Given the description of an element on the screen output the (x, y) to click on. 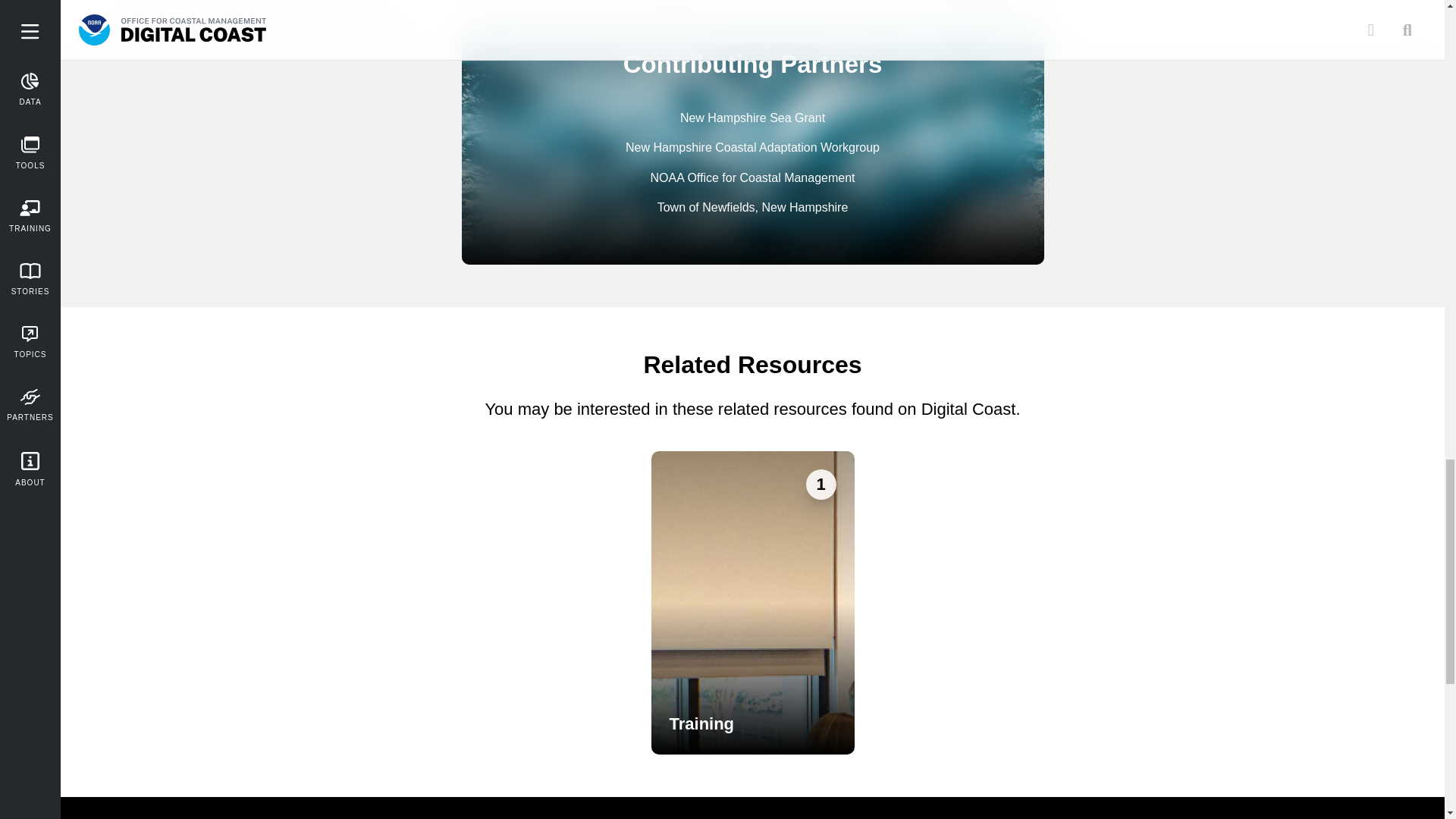
NOAA Office for Coastal Management (751, 176)
Town of Newfields, New Hampshire (753, 207)
New Hampshire Sea Grant (752, 117)
New Hampshire Coastal Adaptation Workgroup (752, 147)
